Given the description of an element on the screen output the (x, y) to click on. 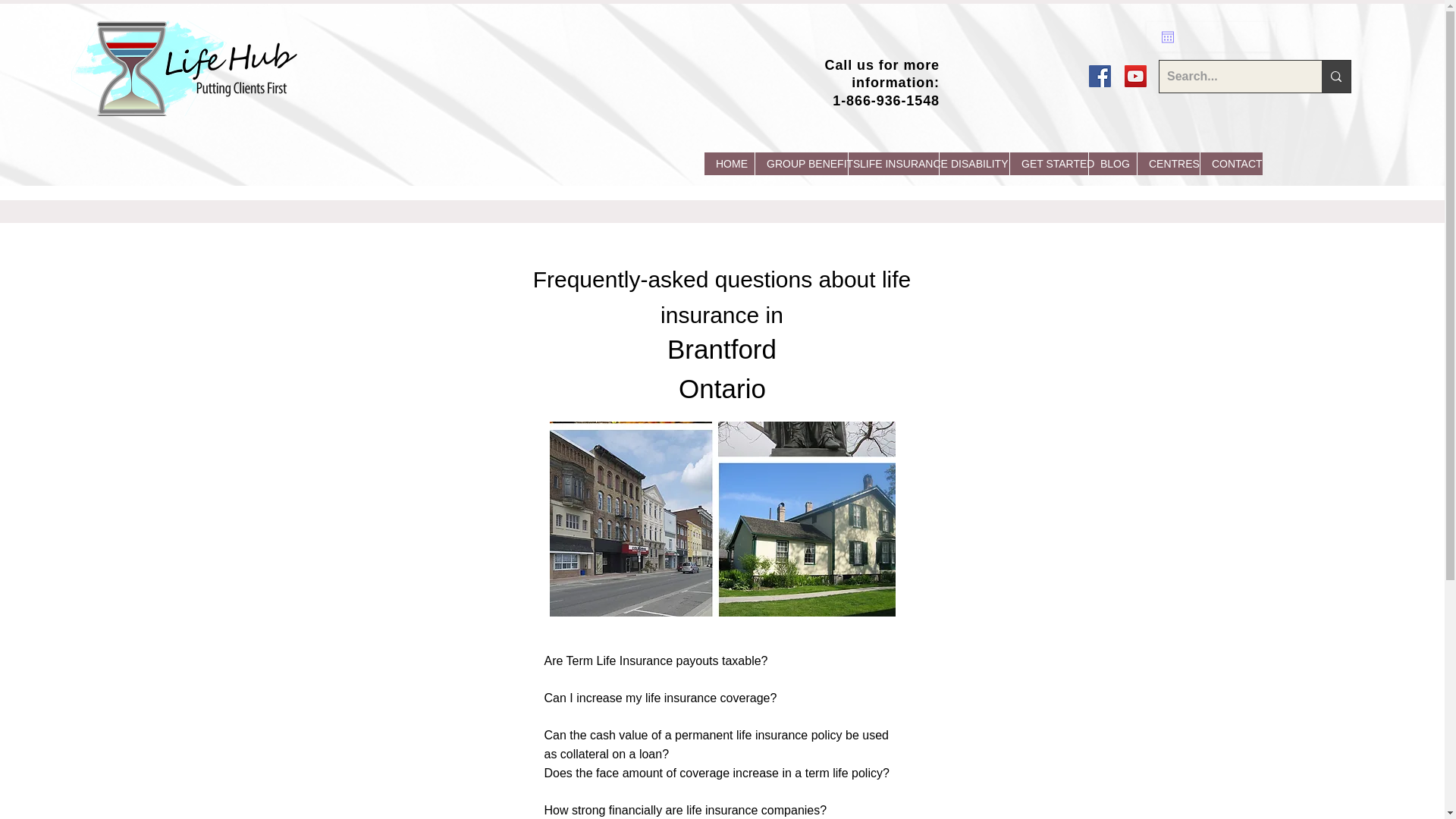
GROUP BENEFITS (800, 163)
HOME (729, 163)
Brantford-tn.jpg (721, 518)
CONTACT (1230, 163)
BLOG (1112, 163)
1-866-936-1548 (885, 100)
GET STARTED (1048, 163)
CENTRES (1168, 163)
DISABILITY (974, 163)
